Given the description of an element on the screen output the (x, y) to click on. 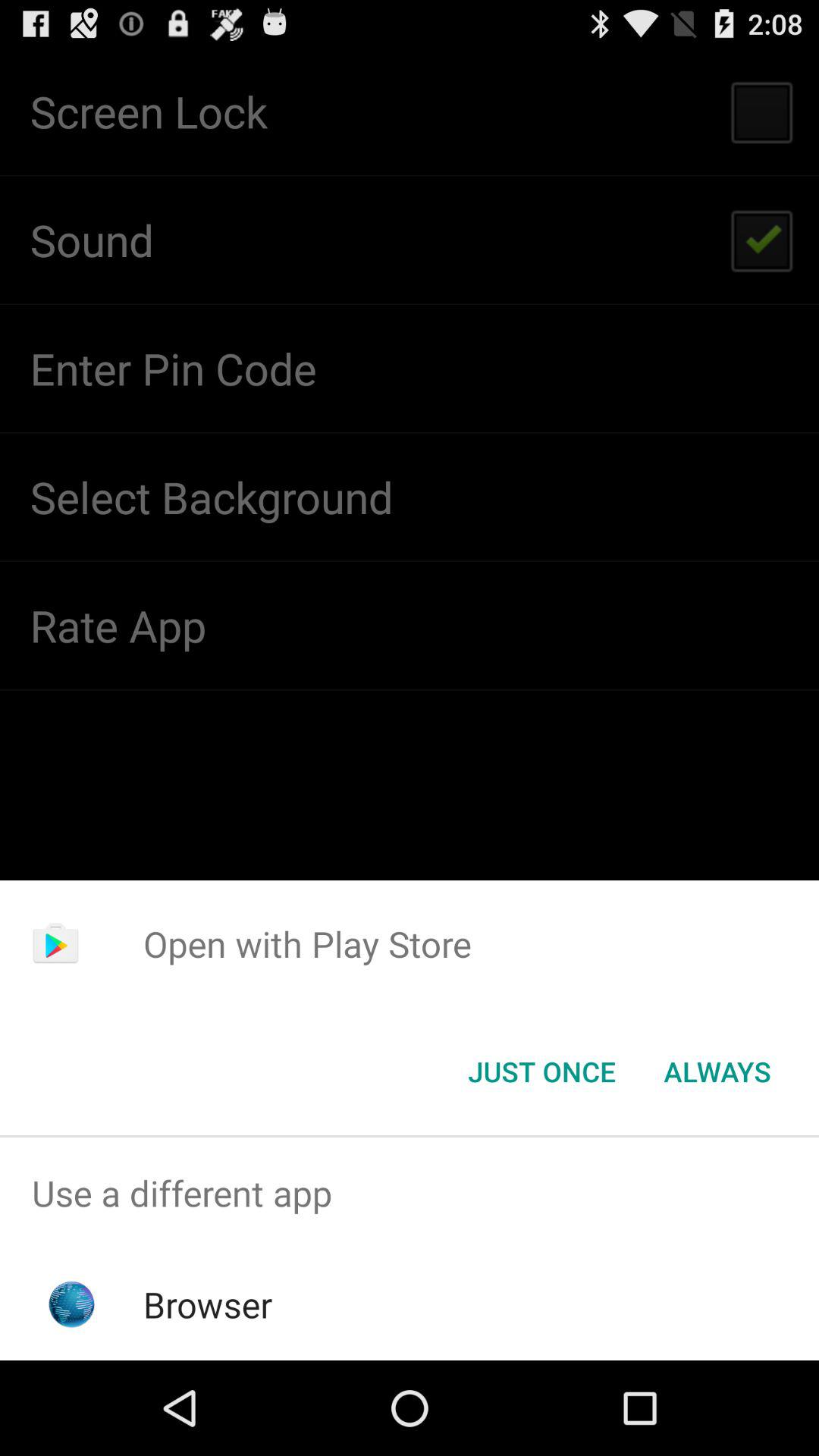
scroll to the just once item (541, 1071)
